Given the description of an element on the screen output the (x, y) to click on. 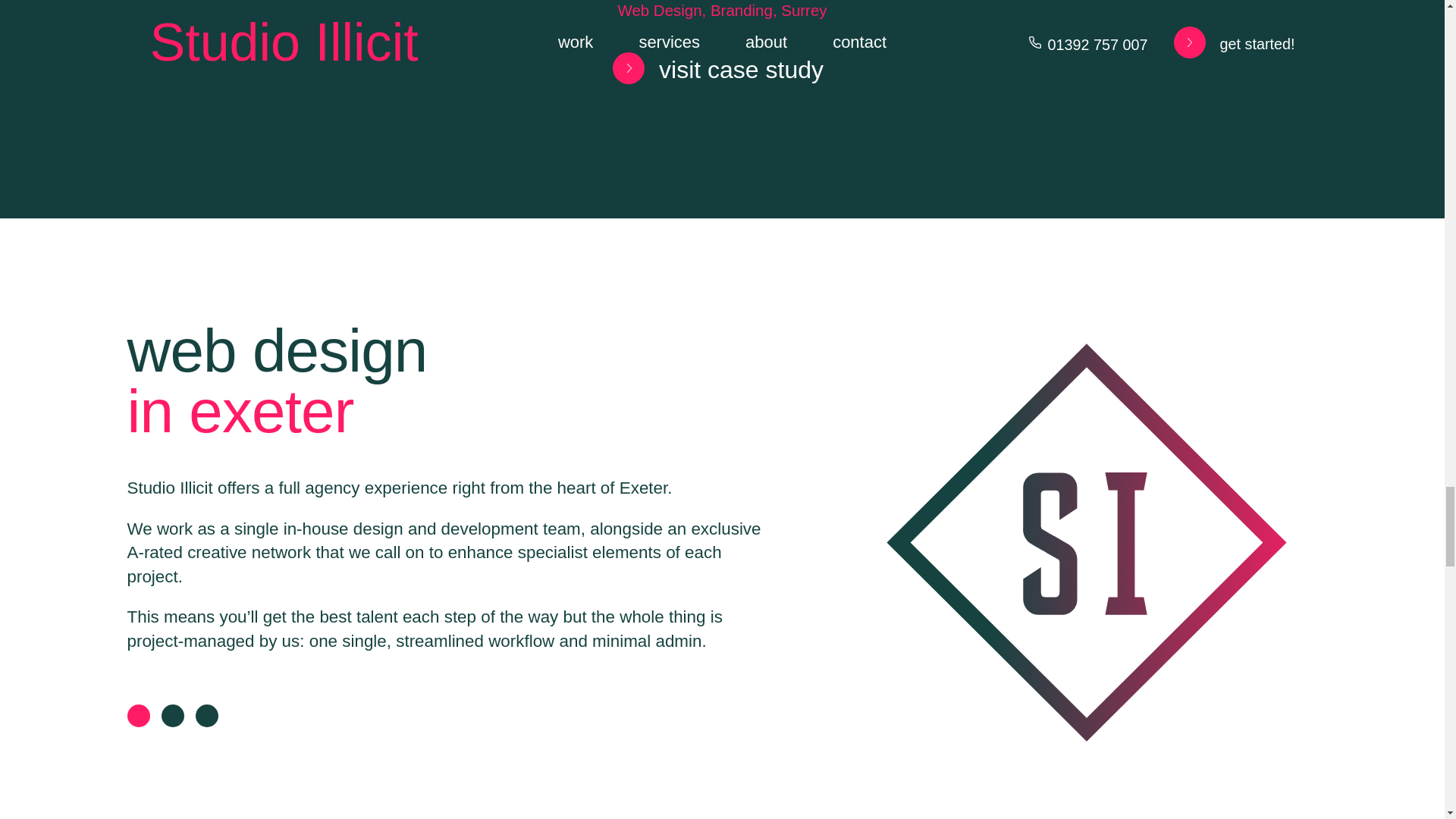
visit case study (711, 67)
want in? (175, 817)
